Given the description of an element on the screen output the (x, y) to click on. 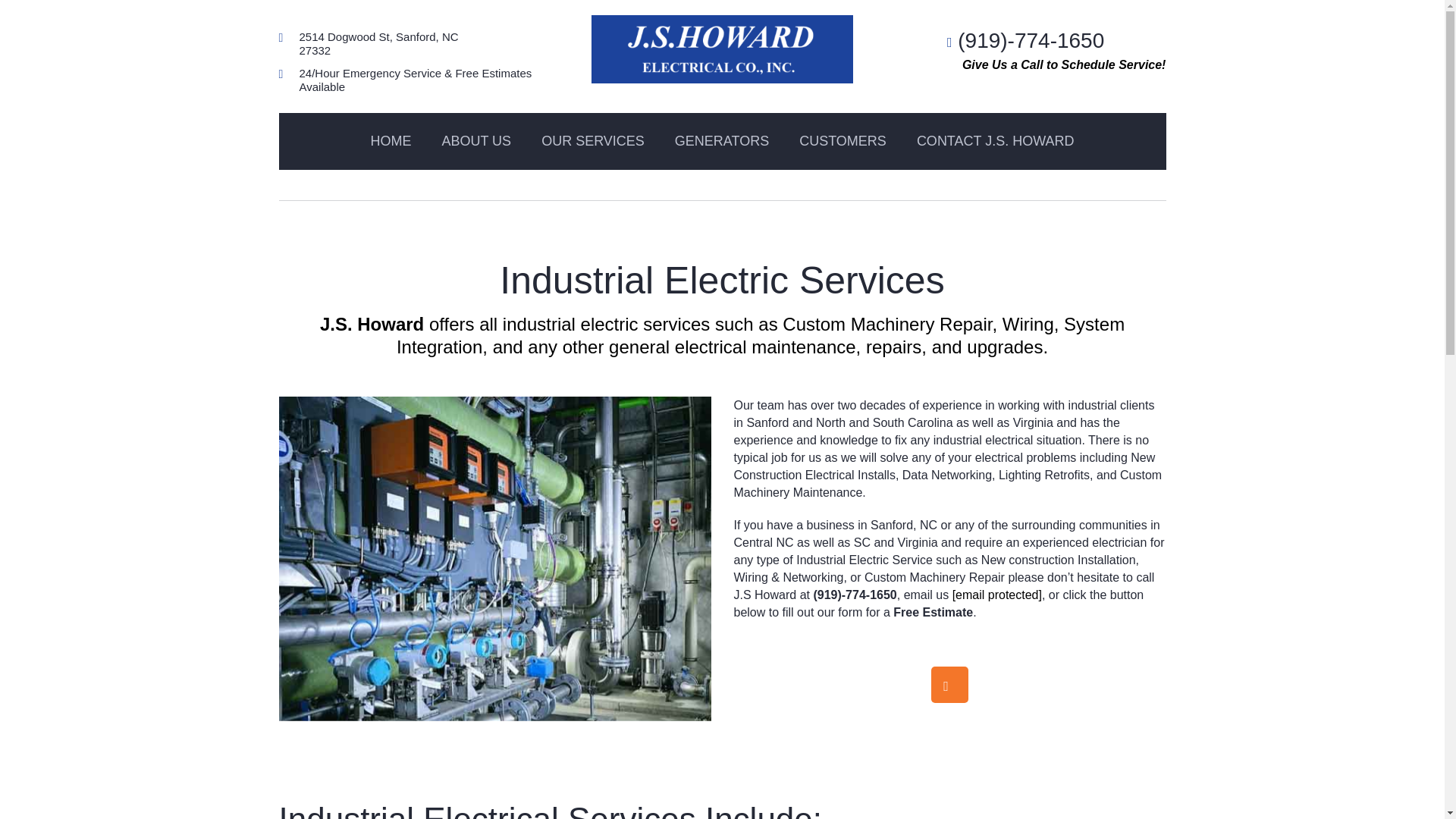
CUSTOMERS (842, 140)
CONTACT J.S. HOWARD (995, 140)
OUR SERVICES (592, 140)
ABOUT US (475, 140)
GENERATORS (721, 140)
HOME (390, 140)
